Given the description of an element on the screen output the (x, y) to click on. 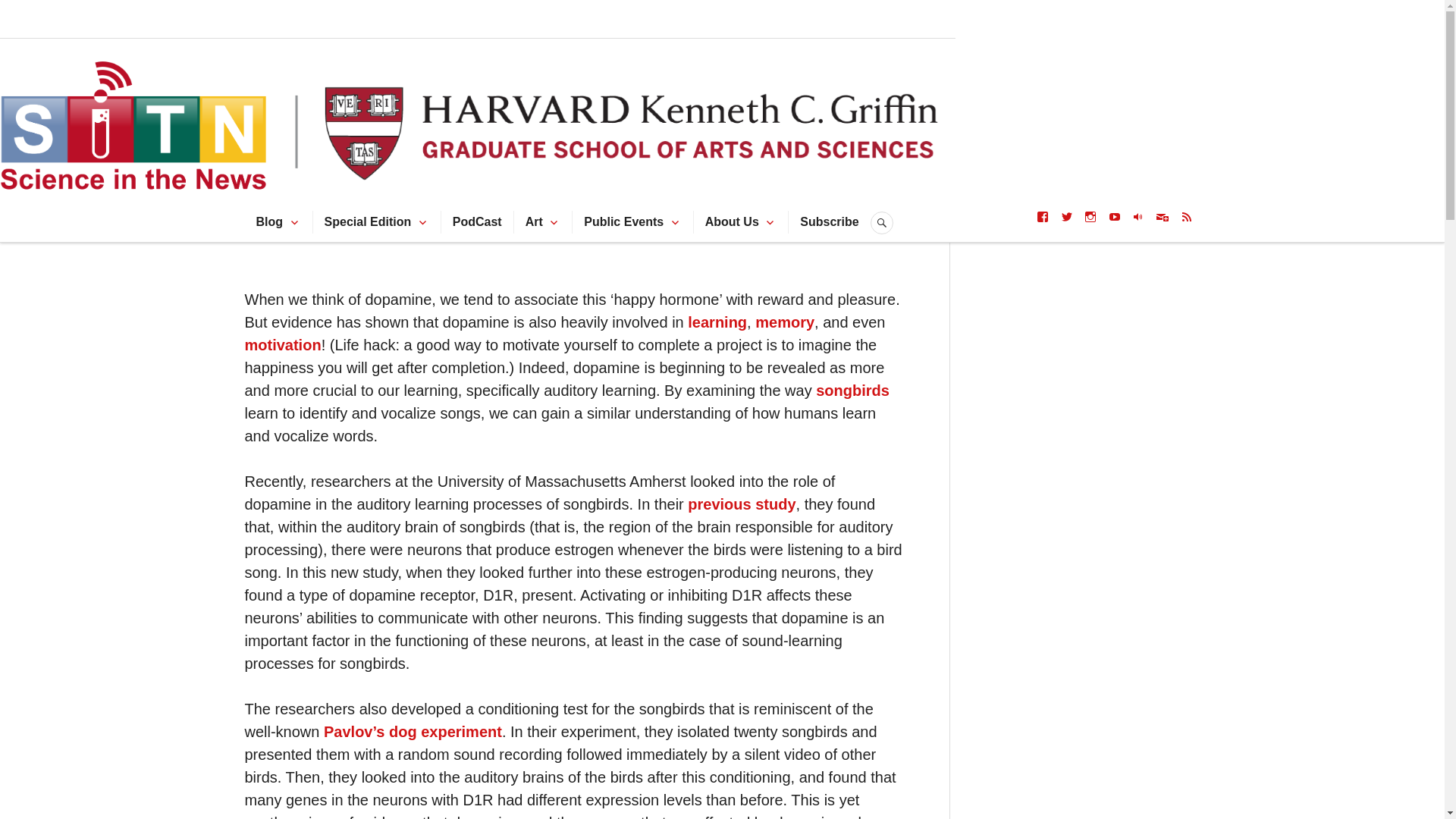
Blog (269, 221)
SITN Facebook Page (1042, 216)
SITN Website RSS Feed (1185, 216)
SITN Lecture YouTube Channel (1114, 216)
Science in the News (491, 37)
Special Edition (368, 221)
SITN Twitter Feed (1067, 216)
SITN Podcast SoundCloud Channel (1138, 216)
SITN Mailing List (1162, 216)
SITN Instagram Page (1090, 216)
